Given the description of an element on the screen output the (x, y) to click on. 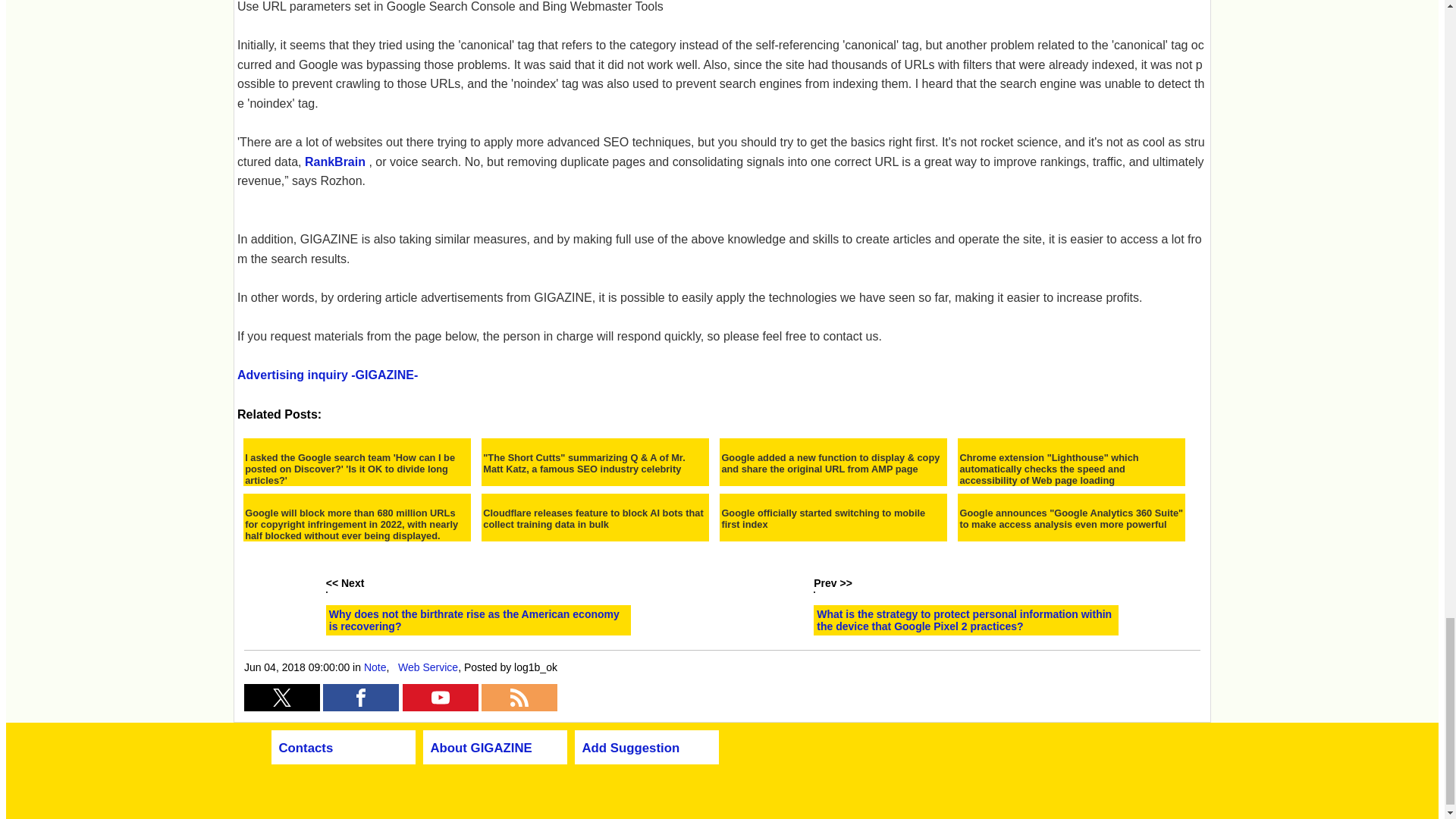
Add Suggestion (630, 748)
RankBrain (334, 161)
Advertising inquiry -GIGAZINE- (327, 374)
